Given the description of an element on the screen output the (x, y) to click on. 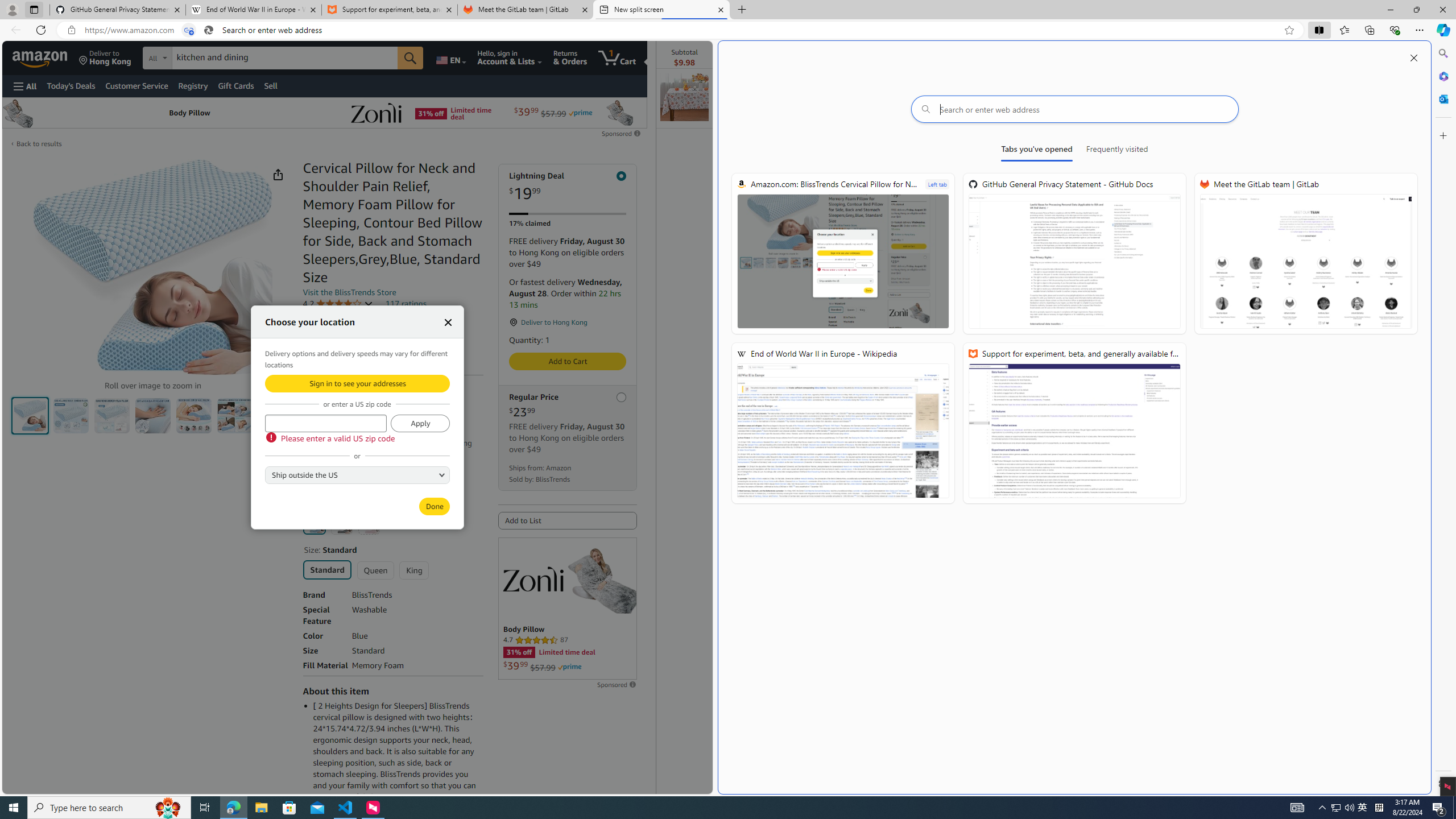
or enter a US zip code (325, 423)
Apply (419, 423)
